Given the description of an element on the screen output the (x, y) to click on. 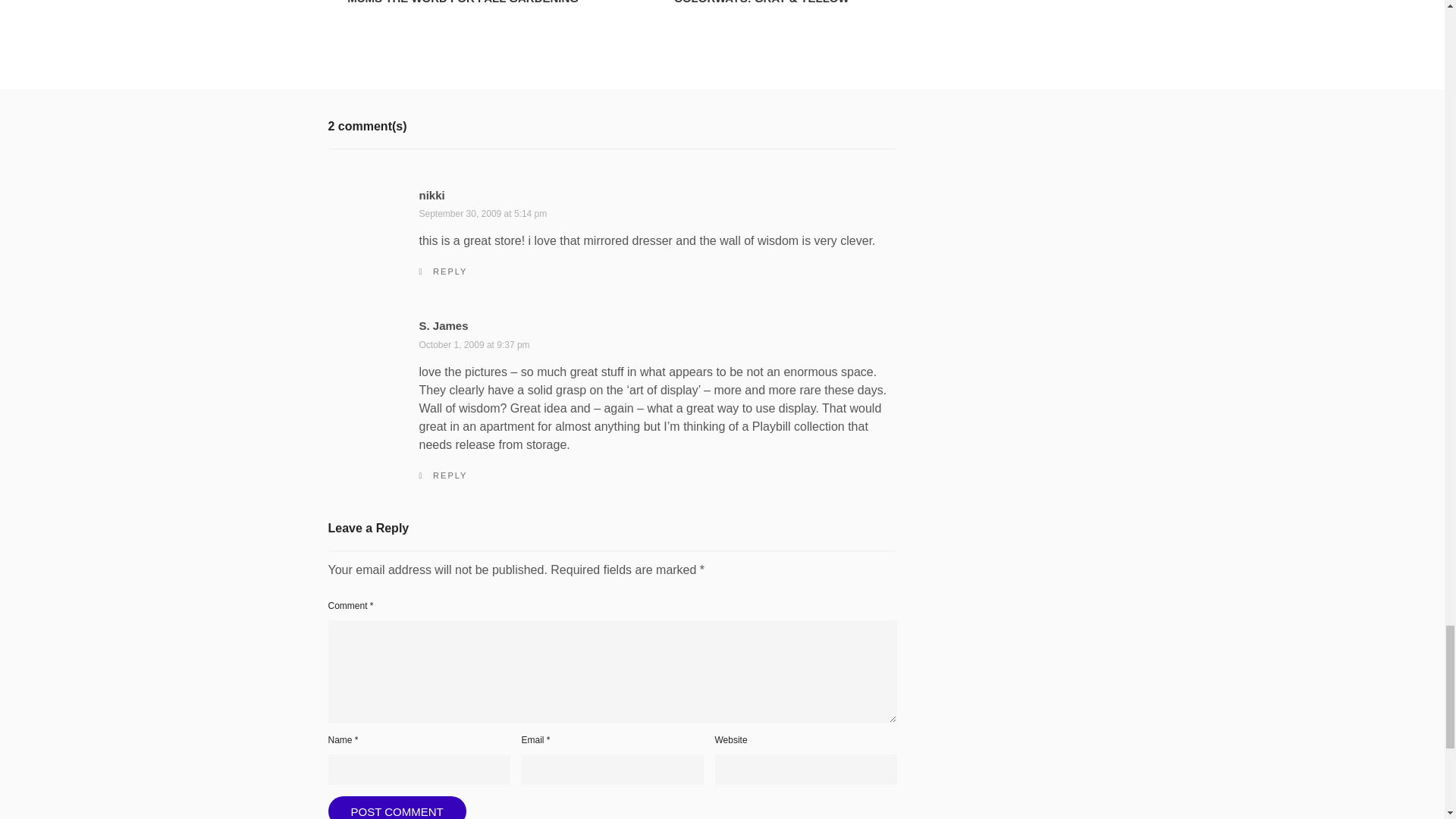
October 1, 2009 at 9:37 pm (474, 344)
September 30, 2009 at 5:14 pm (483, 213)
Post Comment (396, 807)
REPLY (443, 474)
Post Comment (469, 22)
REPLY (396, 807)
